Given the description of an element on the screen output the (x, y) to click on. 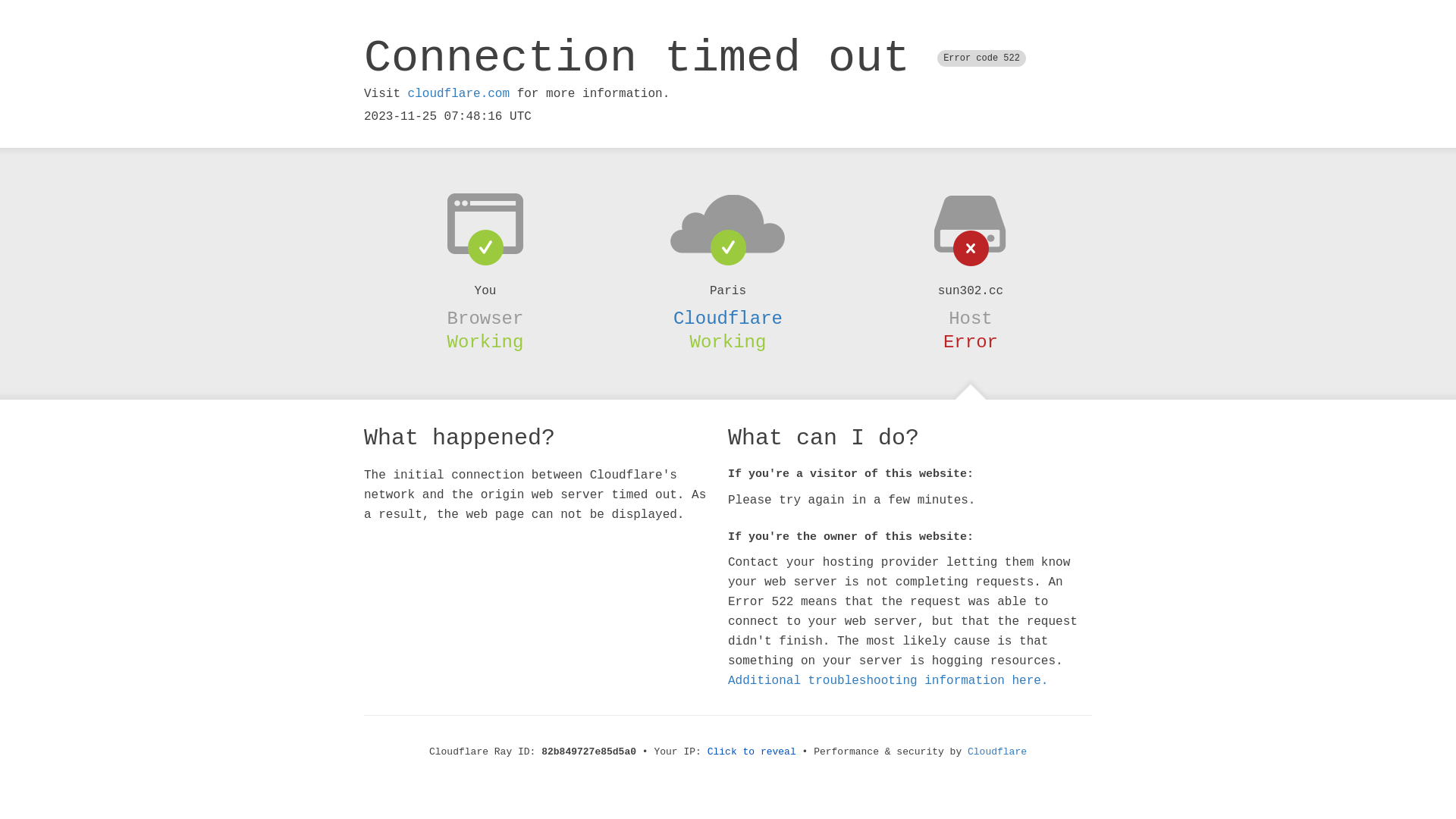
Click to reveal Element type: text (751, 751)
Cloudflare Element type: text (727, 318)
Cloudflare Element type: text (996, 751)
cloudflare.com Element type: text (458, 93)
Additional troubleshooting information here. Element type: text (888, 680)
